Given the description of an element on the screen output the (x, y) to click on. 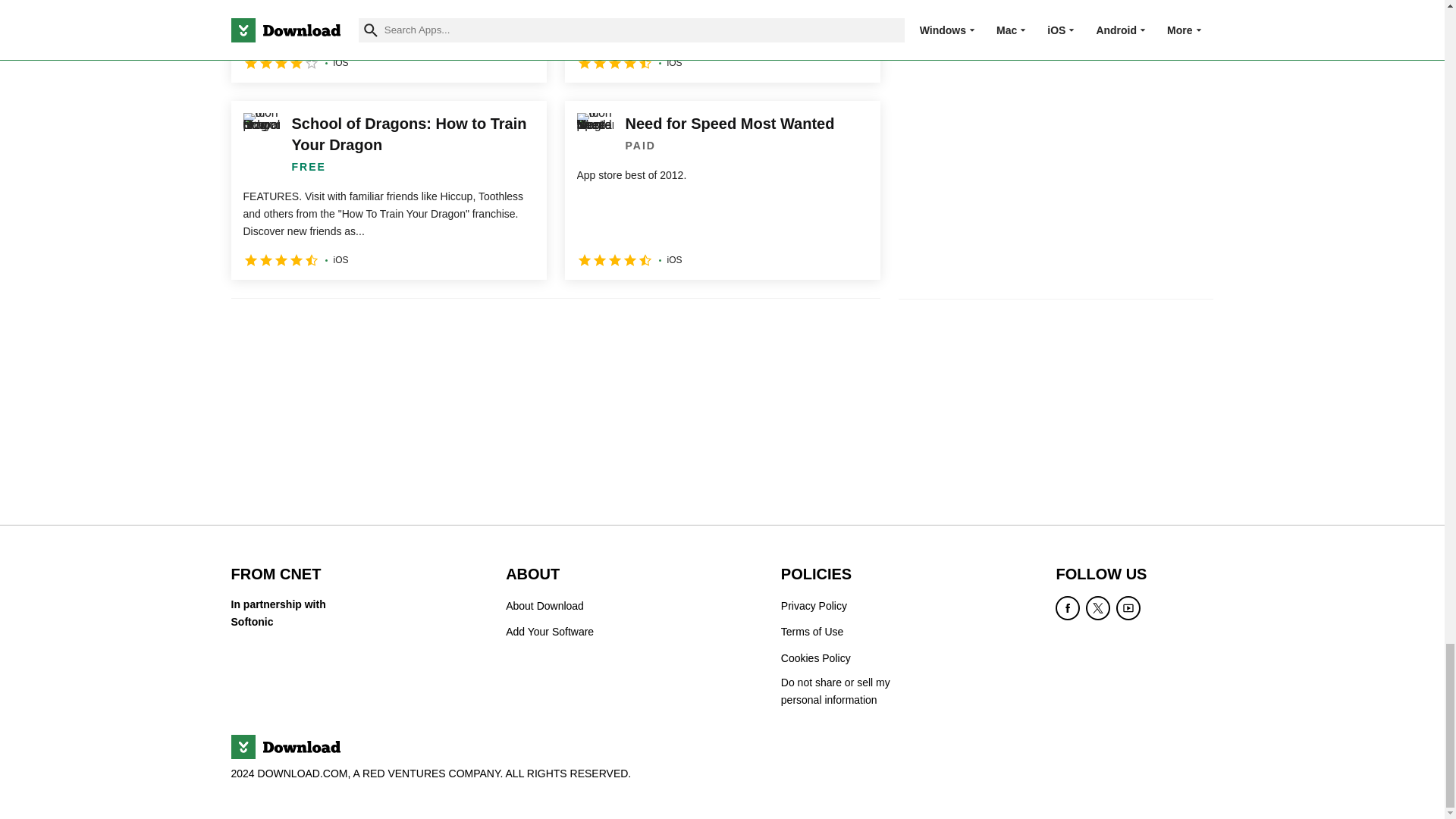
School of Dragons: How to Train Your Dragon (388, 190)
CUPHEAD MOBILE (721, 40)
Mini Militia - Doodle Army 2 (388, 40)
Download.com (284, 746)
Need for Speed Most Wanted (721, 190)
Become a Facebook fan of Download.com (1067, 607)
